Given the description of an element on the screen output the (x, y) to click on. 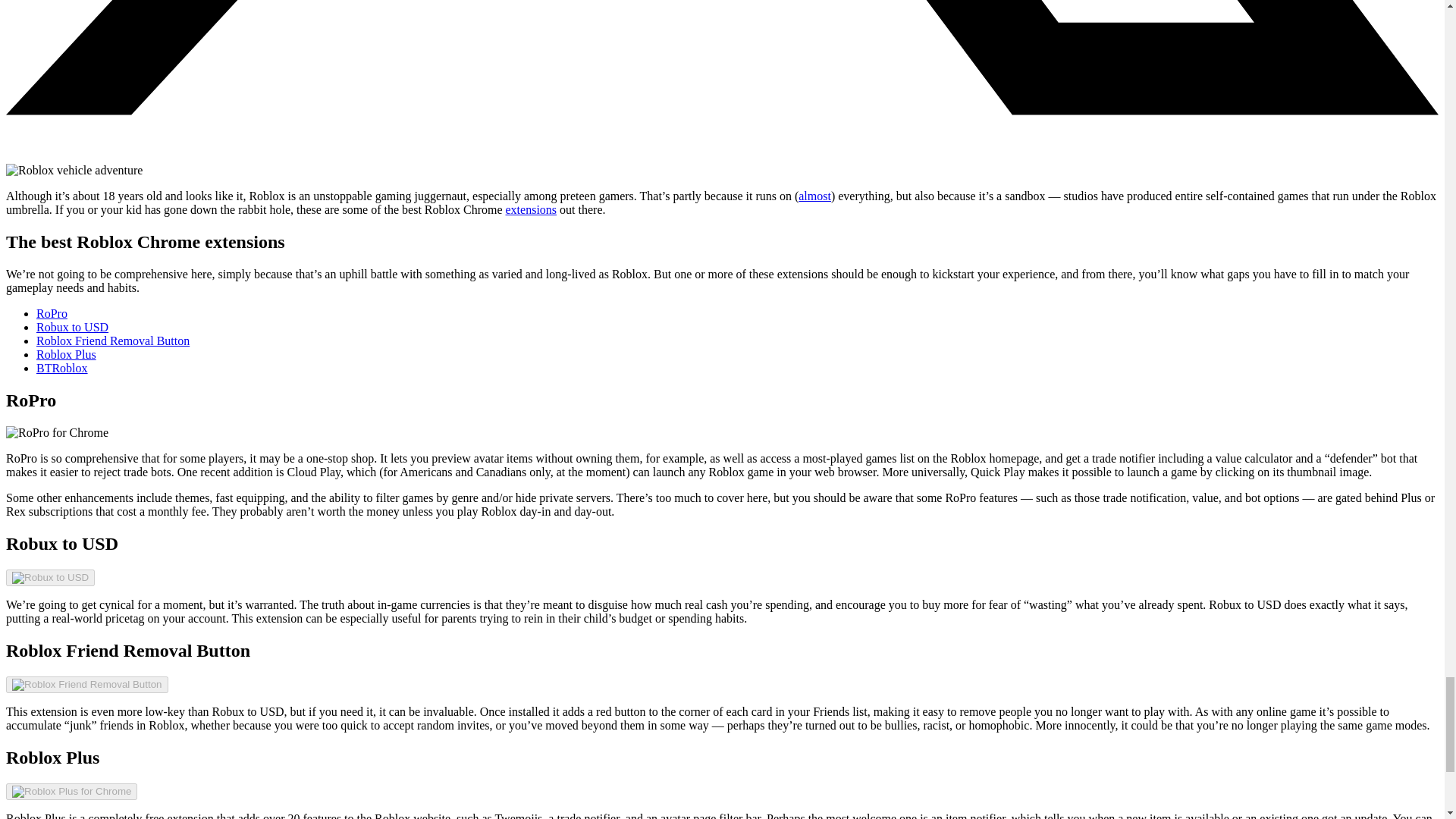
Roblox Friend Removal Button (86, 684)
Roblox Plus (66, 354)
extensions (531, 209)
BTRoblox (61, 367)
almost (814, 195)
RoPro for Chrome (56, 432)
Roblox vehicle adventure (73, 170)
RoPro (51, 313)
Roblox Plus for Chrome (71, 791)
Roblox Friend Removal Button (112, 340)
Robux to USD (71, 327)
Robux to USD (49, 577)
